Given the description of an element on the screen output the (x, y) to click on. 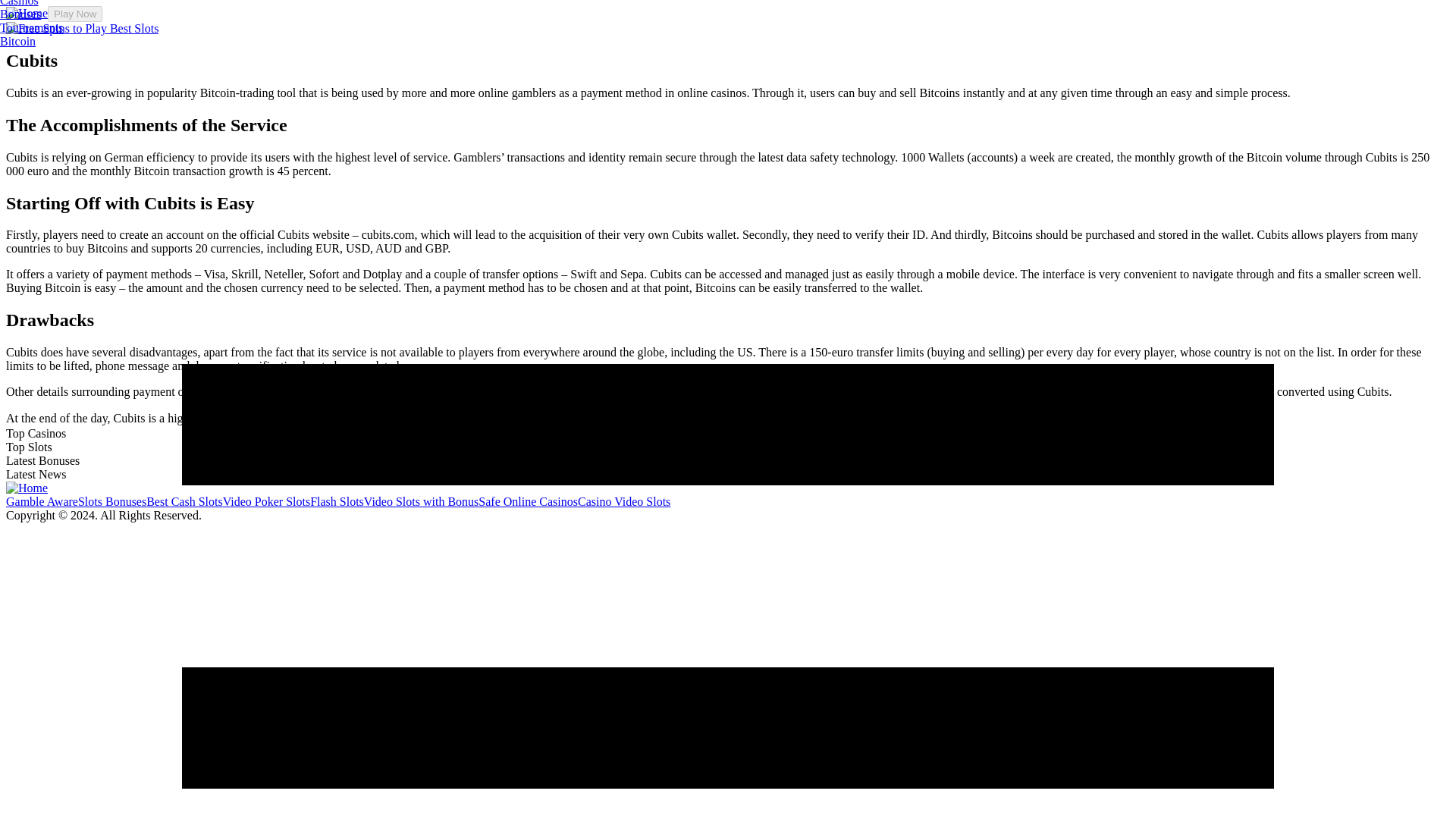
Best Cash Slots (184, 501)
Video Poker Slots (266, 501)
Gamble Aware (41, 501)
Safe Online Casinos (528, 501)
Flash Slots (337, 501)
Video Slots with Bonus (421, 501)
Casino Video Slots (623, 501)
Play Now (74, 13)
Slots Bonuses (112, 501)
Play Now (980, 418)
